Given the description of an element on the screen output the (x, y) to click on. 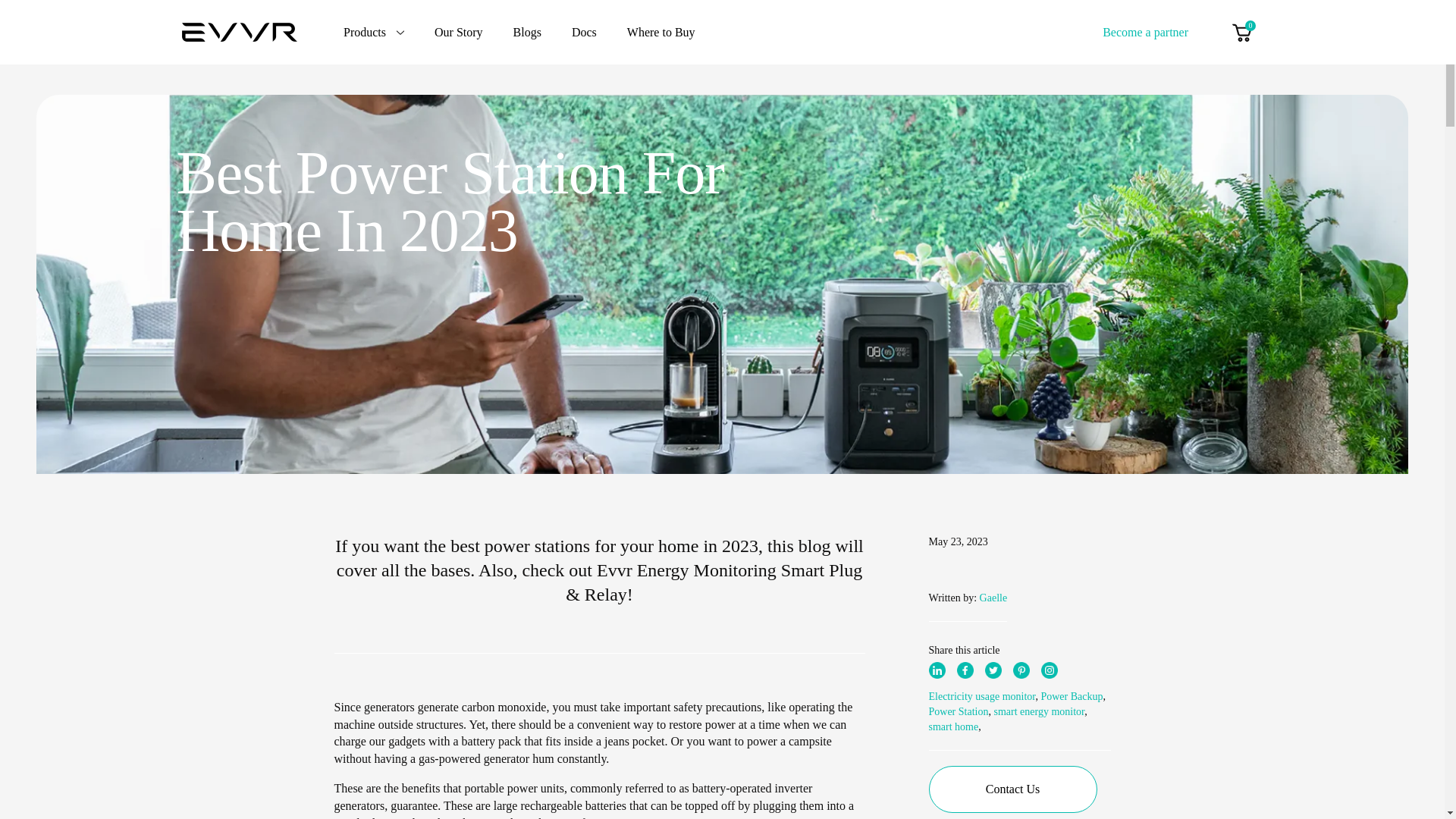
Docs (584, 31)
Products (373, 31)
0 (1240, 31)
Blogs (527, 31)
Where to Buy (661, 31)
Become a partner (1144, 31)
Our Story (458, 31)
